Given the description of an element on the screen output the (x, y) to click on. 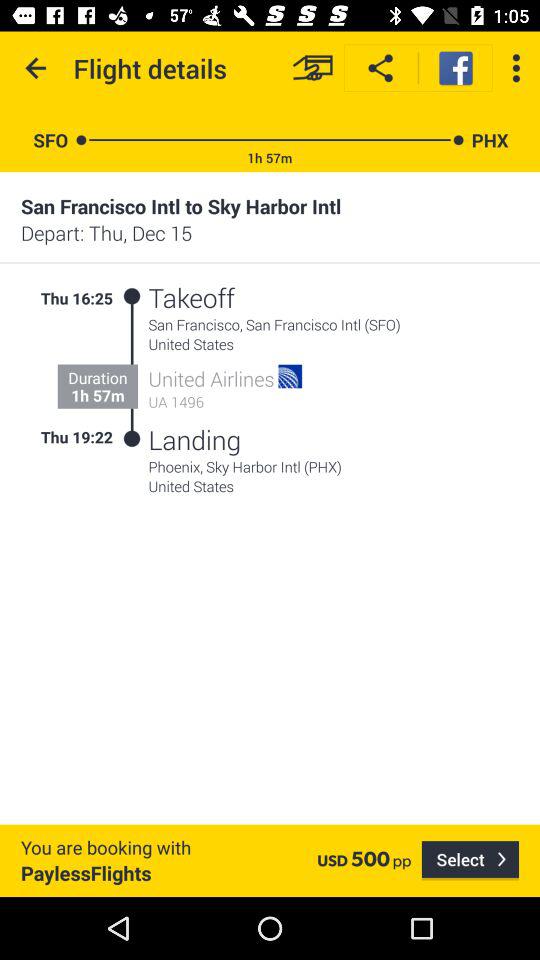
launch item to the left of flight details icon (36, 68)
